Given the description of an element on the screen output the (x, y) to click on. 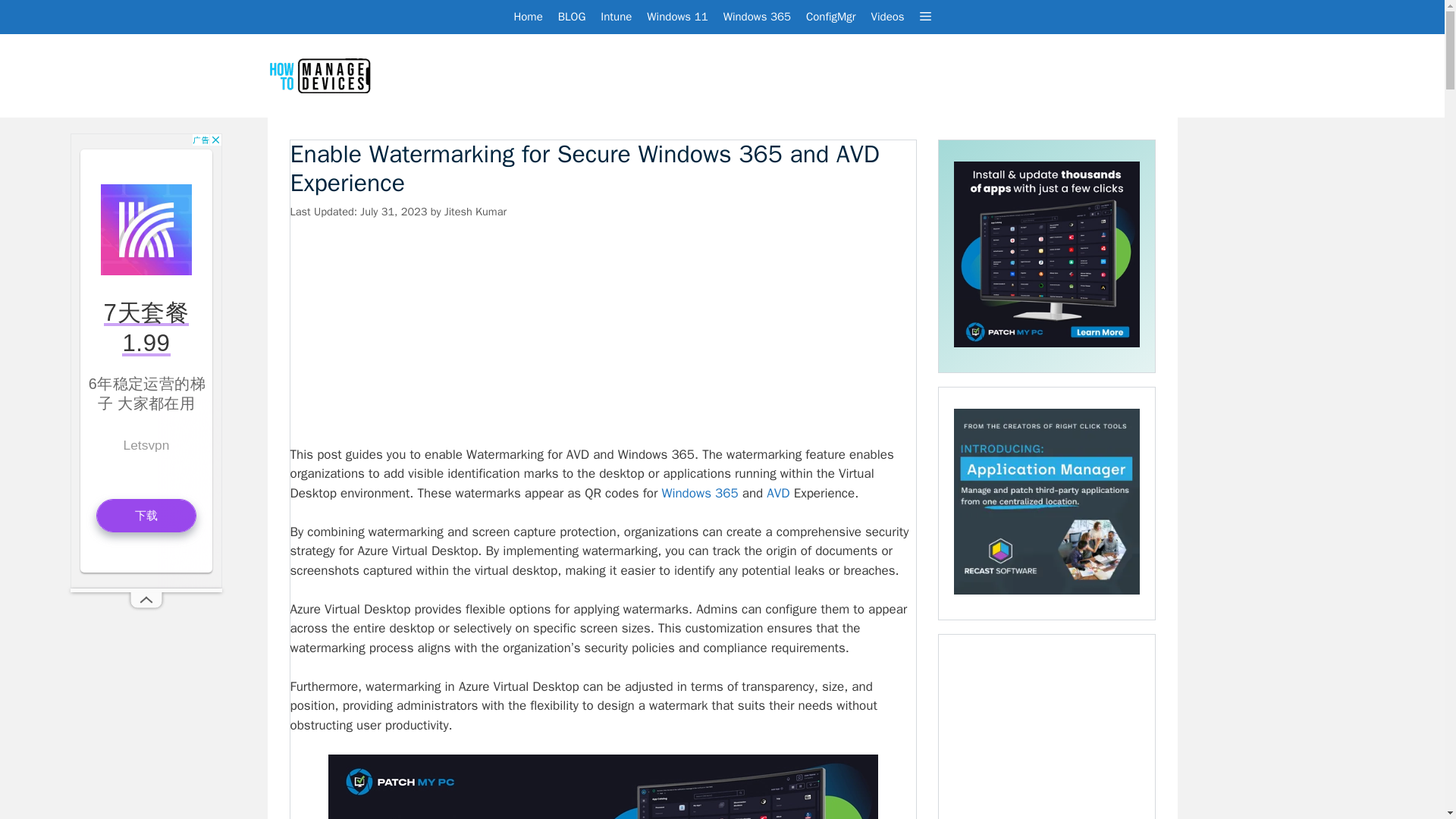
Windows 11 (676, 17)
View all posts by Jitesh Kumar (475, 211)
BLOG (572, 17)
Videos (887, 17)
Windows 365 (756, 17)
Jitesh Kumar (475, 211)
Microsoft Endpoint Manager Intune (615, 17)
ConfigMgr (830, 17)
Windows 365 (699, 493)
BLOG (572, 17)
Intune (615, 17)
AVD (778, 493)
Home (527, 17)
Microsoft Endpoint Manager Configuration Manager (830, 17)
Advertisement (602, 332)
